Given the description of an element on the screen output the (x, y) to click on. 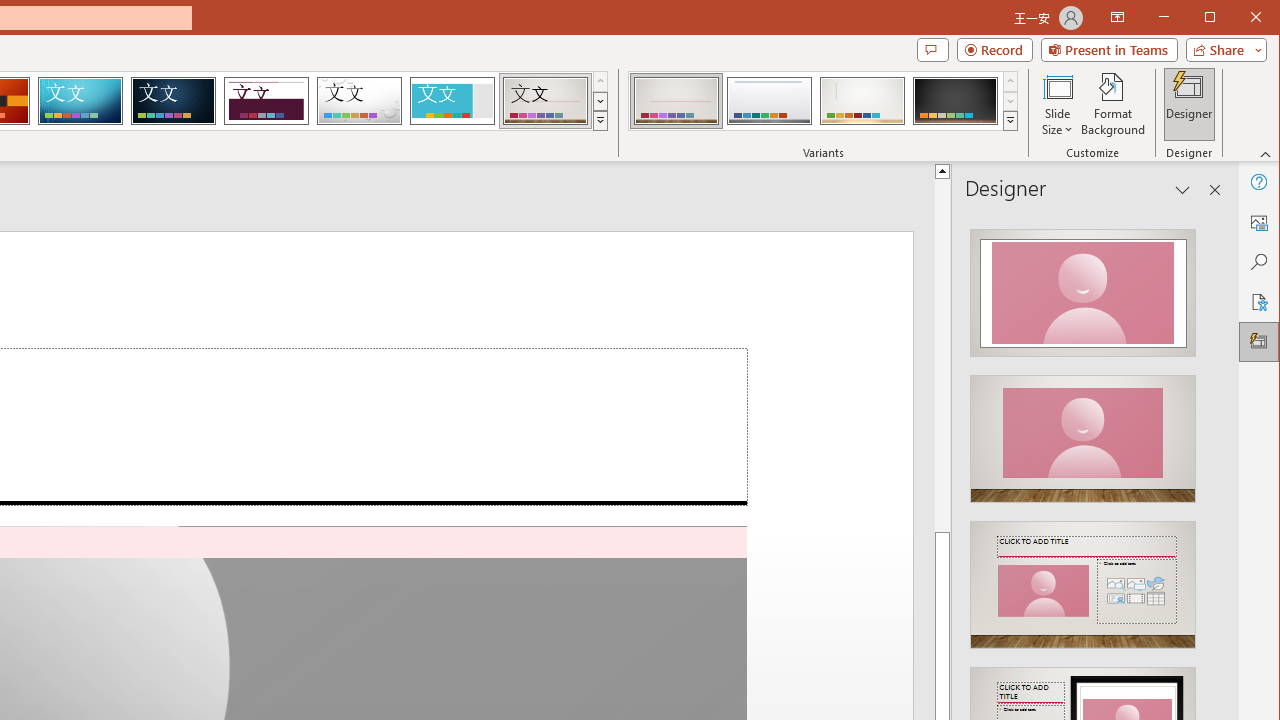
Page up (942, 355)
Recommended Design: Design Idea (1082, 286)
Maximize (1238, 18)
Alt Text (1258, 221)
Search (1258, 261)
Line up (942, 170)
